Given the description of an element on the screen output the (x, y) to click on. 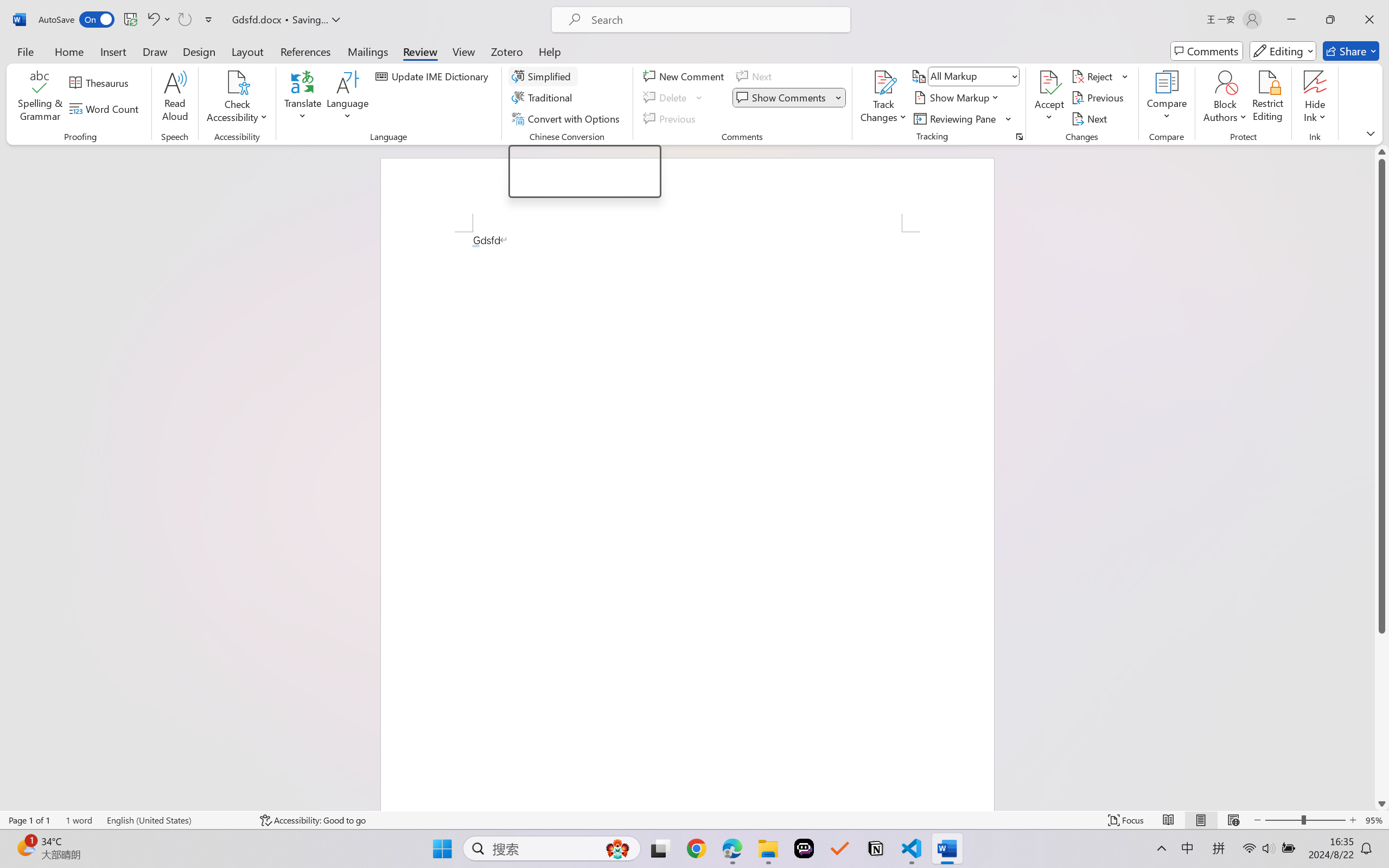
New Comment (685, 75)
Show Markup (957, 97)
Class: NetUIScrollBar (1382, 477)
Action: Undo Auto Actions (475, 245)
Show Comments (788, 97)
Read Aloud (174, 97)
Display for Review (973, 75)
Page down (1382, 714)
Track Changes (883, 81)
Reviewing Pane (955, 118)
